Given the description of an element on the screen output the (x, y) to click on. 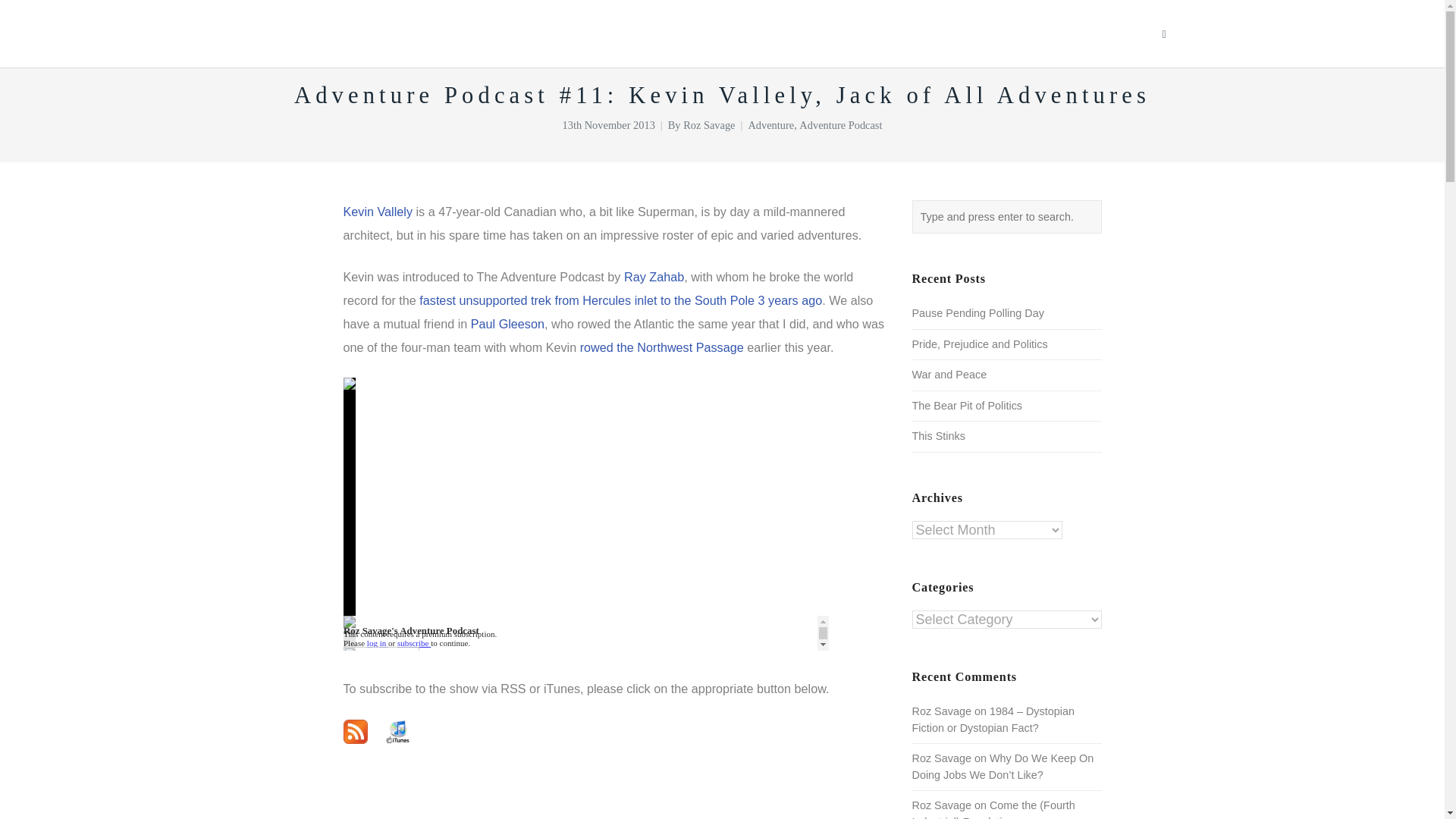
Roz Savage (708, 124)
Speaker (790, 33)
View all posts in Adventure Podcast (840, 124)
rowed the Northwest Passage (661, 346)
View all posts in Adventure (770, 124)
Kevin Vallely (377, 211)
Adventure Podcast (840, 124)
Ray Zahab (654, 276)
Paul Gleeson (507, 323)
Podcast (966, 33)
Adventure (770, 124)
